Given the description of an element on the screen output the (x, y) to click on. 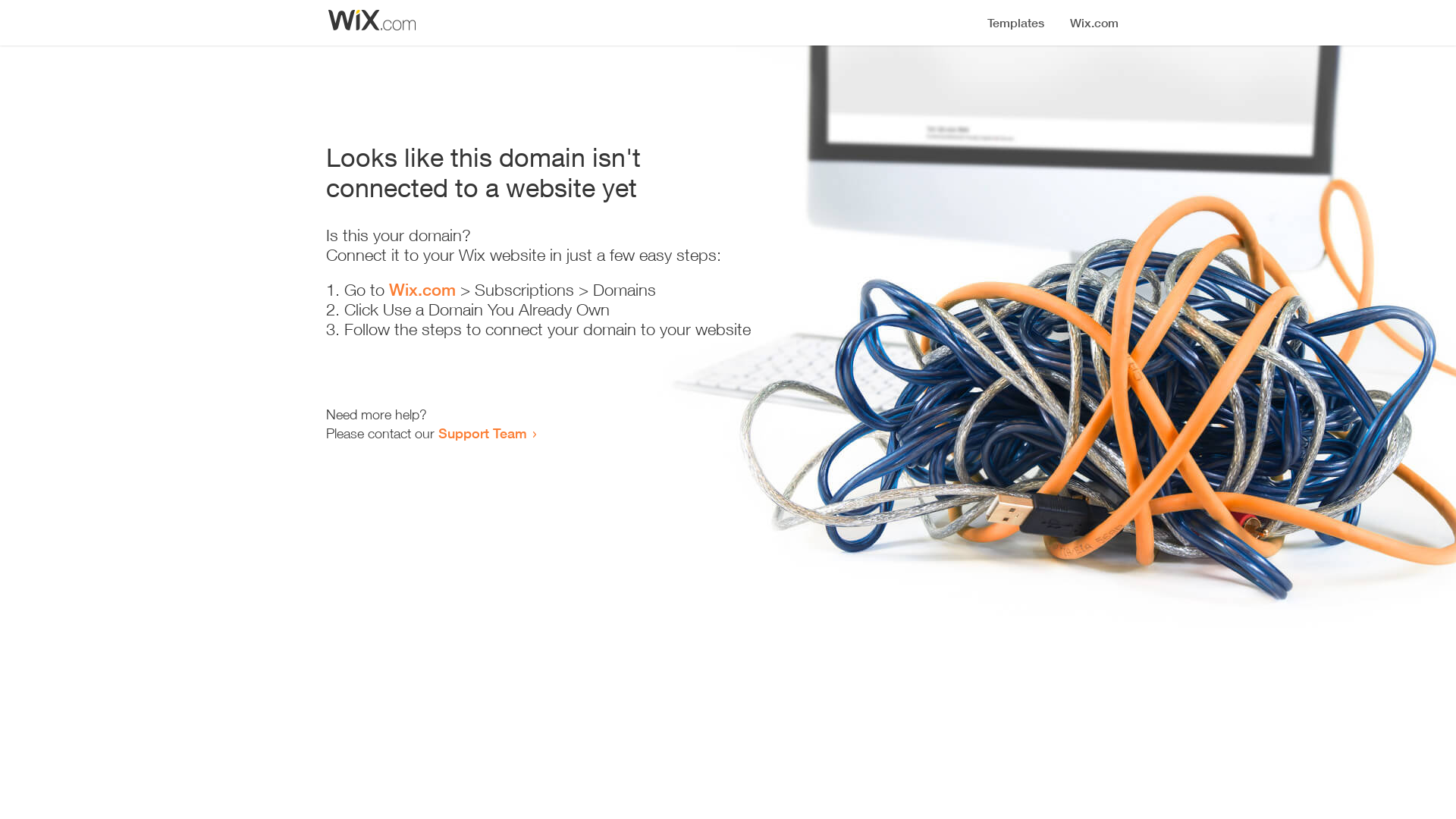
Support Team Element type: text (482, 432)
Wix.com Element type: text (422, 289)
